Given the description of an element on the screen output the (x, y) to click on. 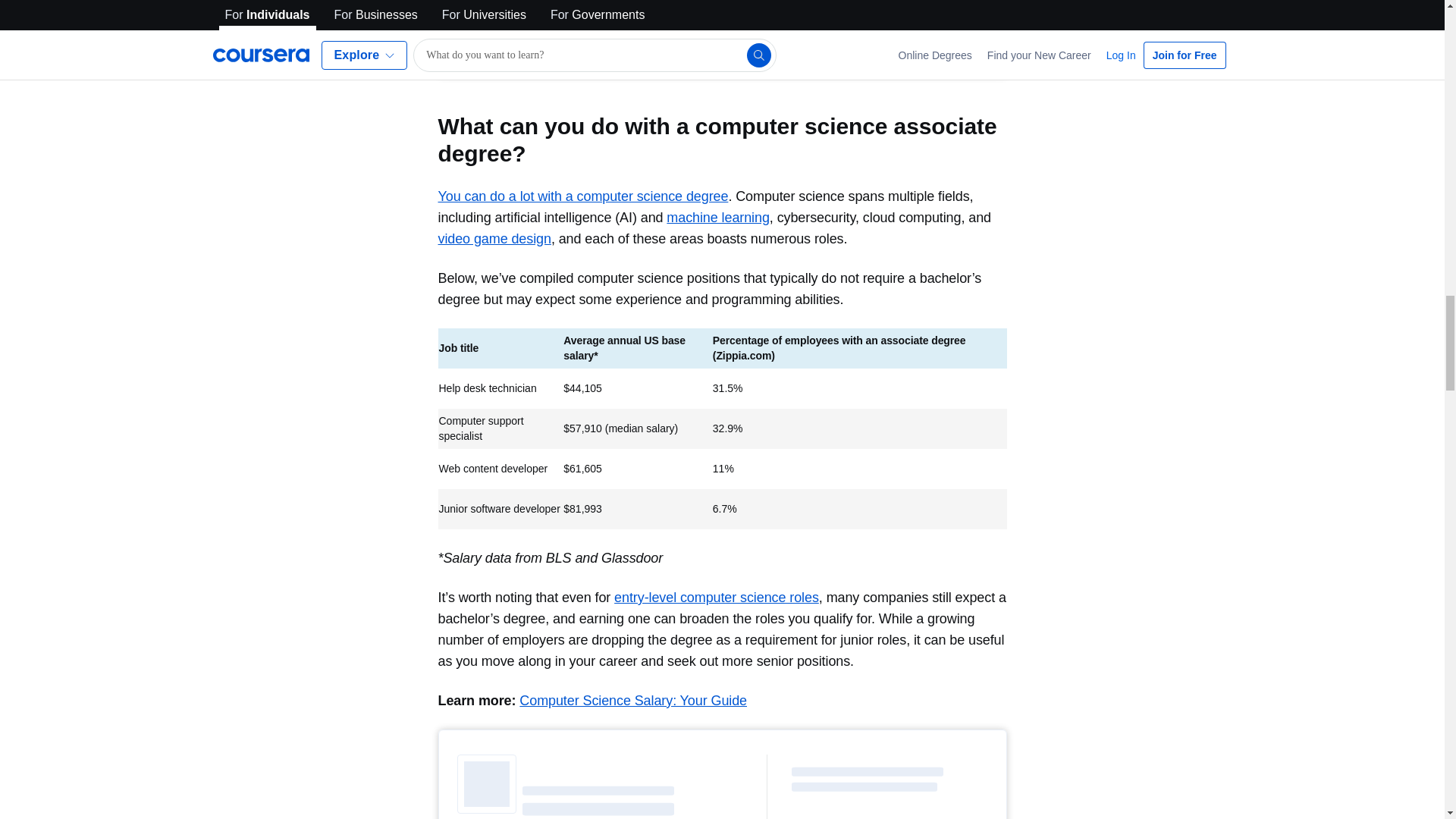
You can do a lot with a computer science degree (583, 196)
machine learning (717, 217)
video game design (494, 238)
